Given the description of an element on the screen output the (x, y) to click on. 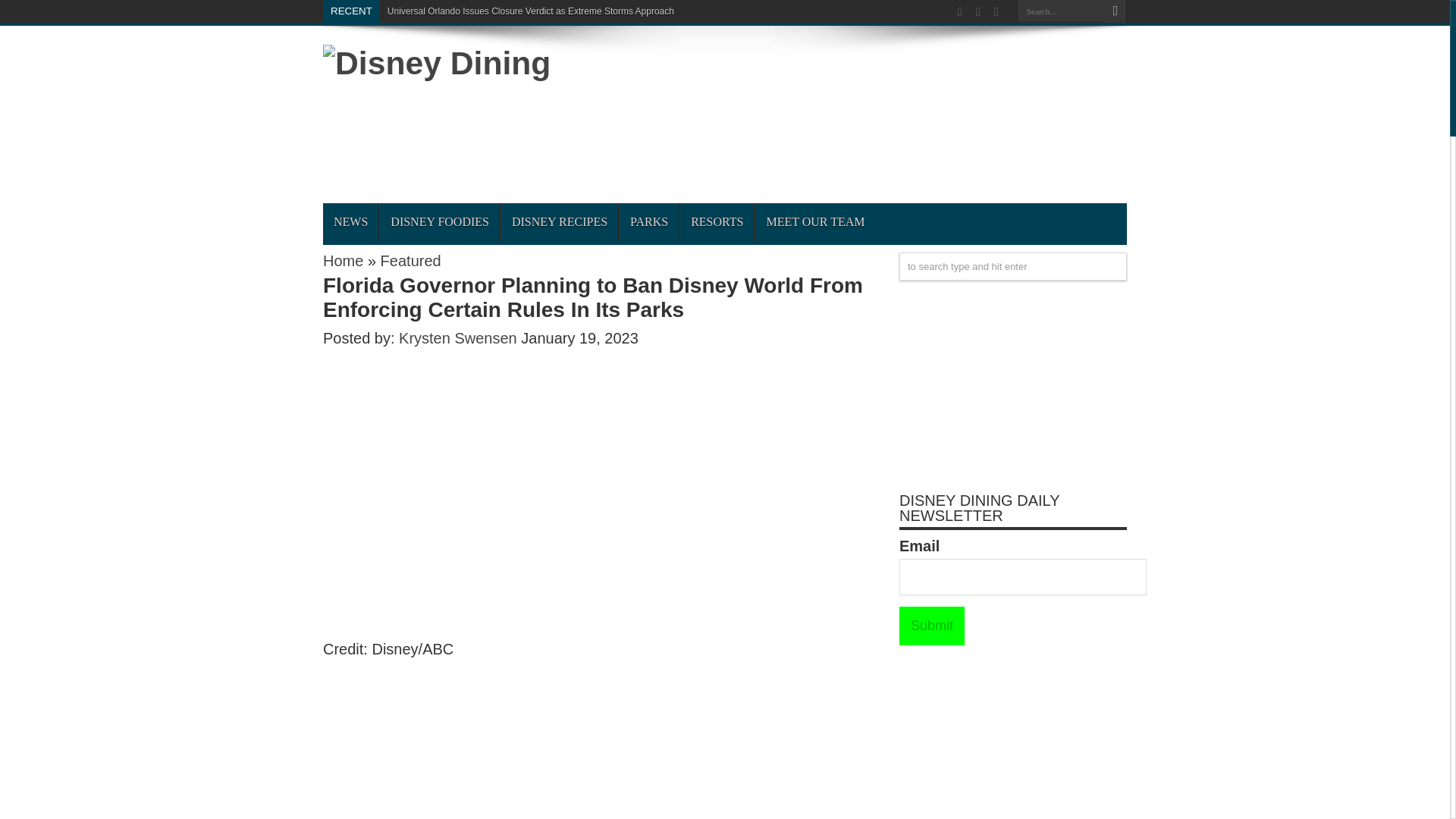
Krysten Swensen (459, 338)
Featured (410, 260)
MEET OUR TEAM (814, 221)
to search type and hit enter (1012, 266)
PARKS (648, 221)
Home (342, 260)
Search... (1059, 11)
NEWS (350, 221)
Search (1114, 11)
RESORTS (716, 221)
DISNEY FOODIES (438, 221)
DISNEY RECIPES (558, 221)
Disney Dining (436, 63)
